Given the description of an element on the screen output the (x, y) to click on. 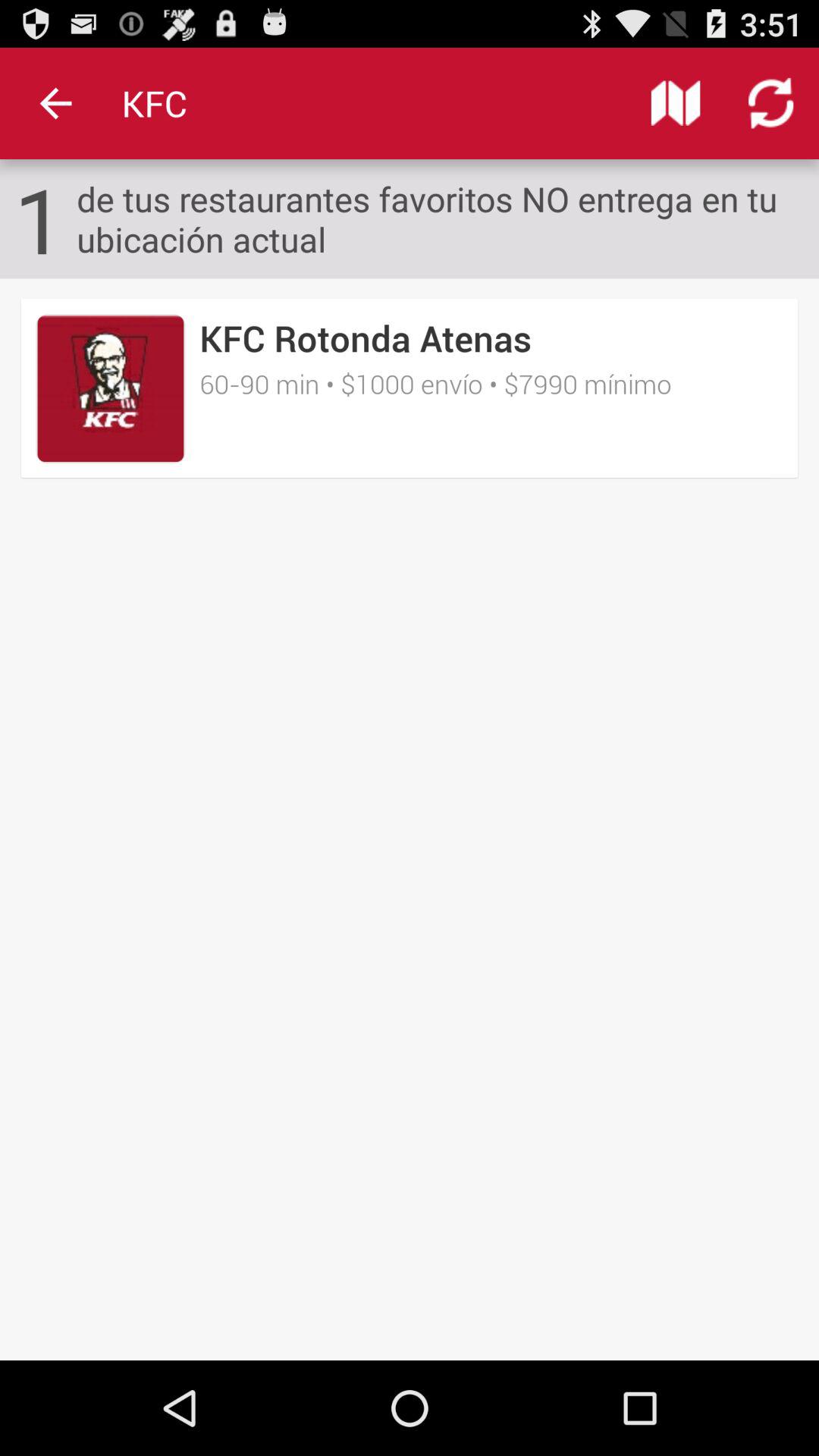
jump until kfc rotonda atenas icon (365, 337)
